Given the description of an element on the screen output the (x, y) to click on. 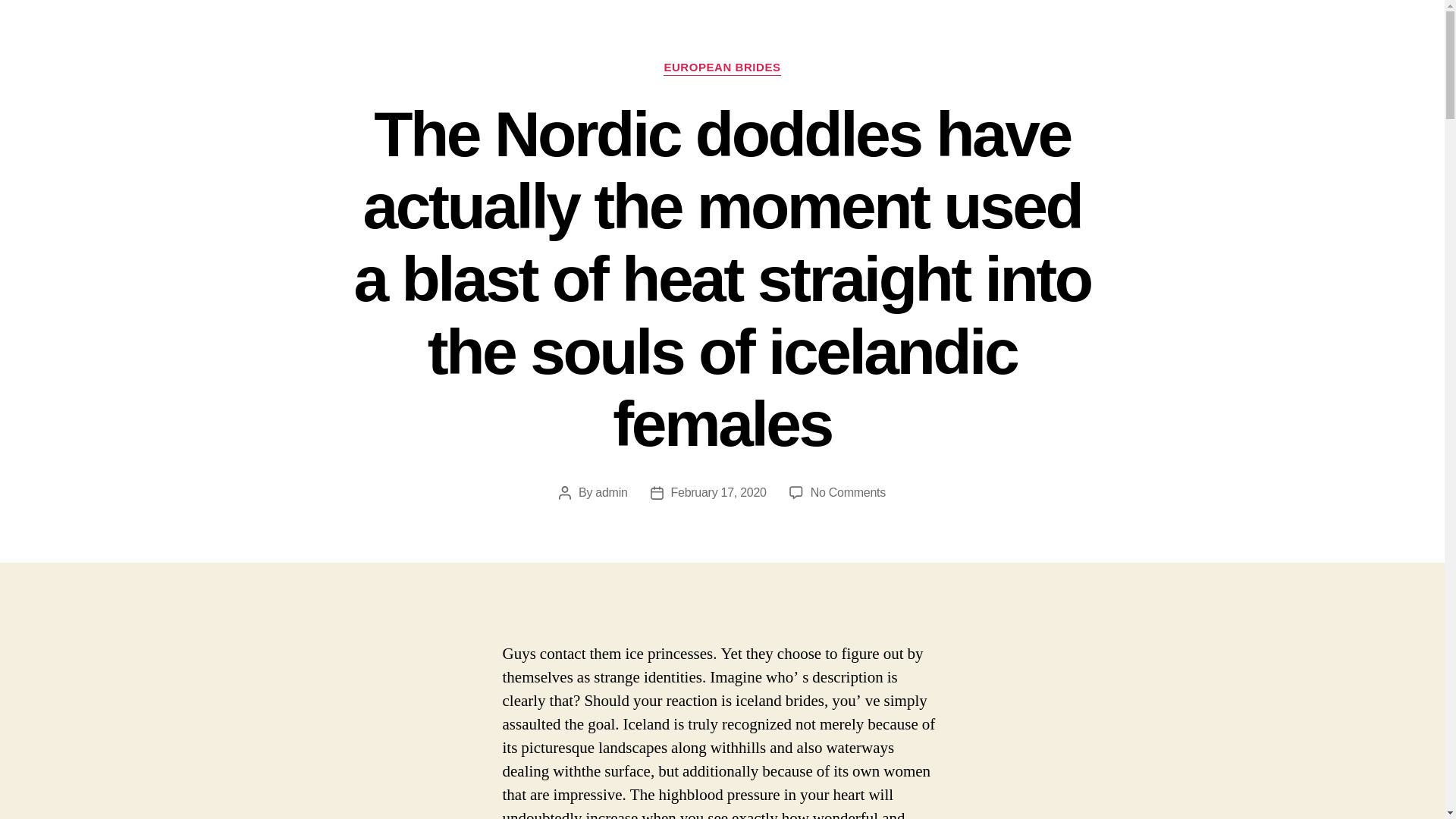
admin (611, 492)
February 17, 2020 (719, 492)
EUROPEAN BRIDES (721, 68)
